Given the description of an element on the screen output the (x, y) to click on. 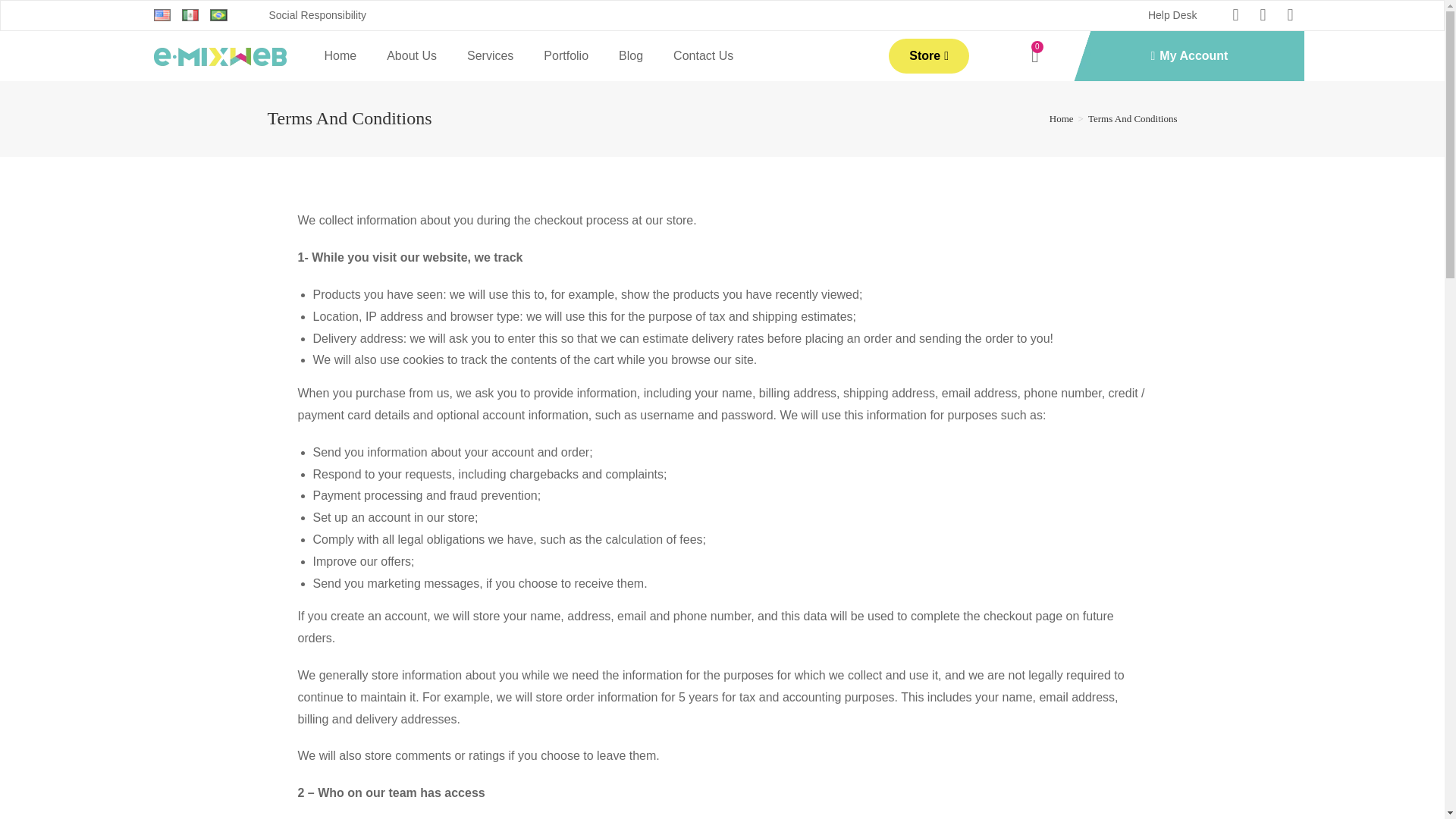
Portfolio (566, 56)
Blog (631, 56)
Help Desk (1172, 14)
About Us (411, 56)
Services (489, 56)
Contact Us (703, 56)
Home (340, 56)
Social Responsibility (316, 14)
Store (928, 55)
